Given the description of an element on the screen output the (x, y) to click on. 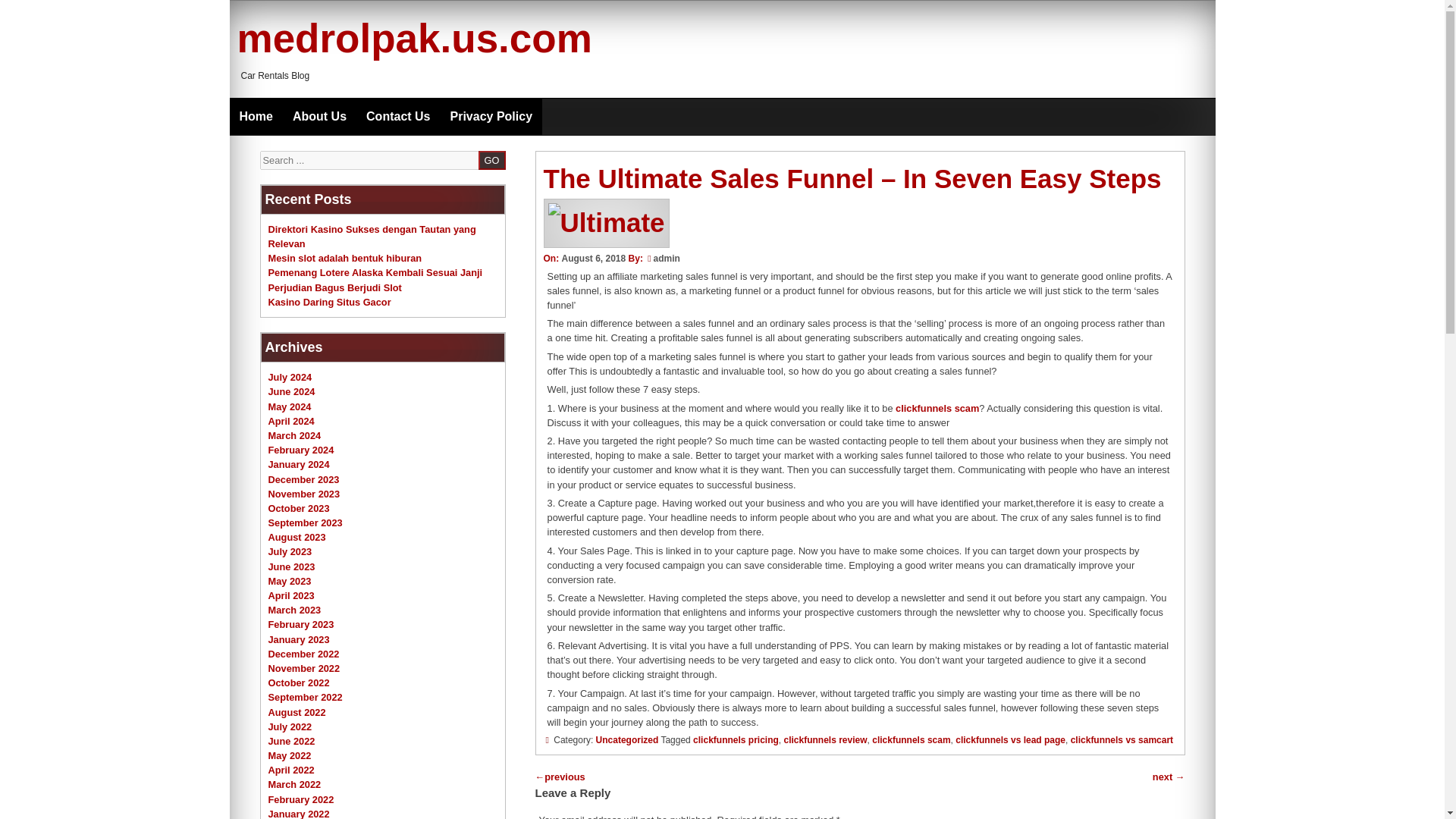
May 2024 (289, 406)
October 2023 (298, 508)
GO (492, 158)
medrolpak.us.com (413, 37)
Contact Us (397, 116)
admin (666, 258)
August 2023 (296, 536)
July 2024 (290, 377)
January 2024 (298, 464)
clickfunnels vs samcart (1121, 739)
About Us (319, 116)
clickfunnels pricing (735, 739)
June 2023 (291, 566)
Mesin slot adalah bentuk hiburan (344, 257)
July 2023 (290, 551)
